Given the description of an element on the screen output the (x, y) to click on. 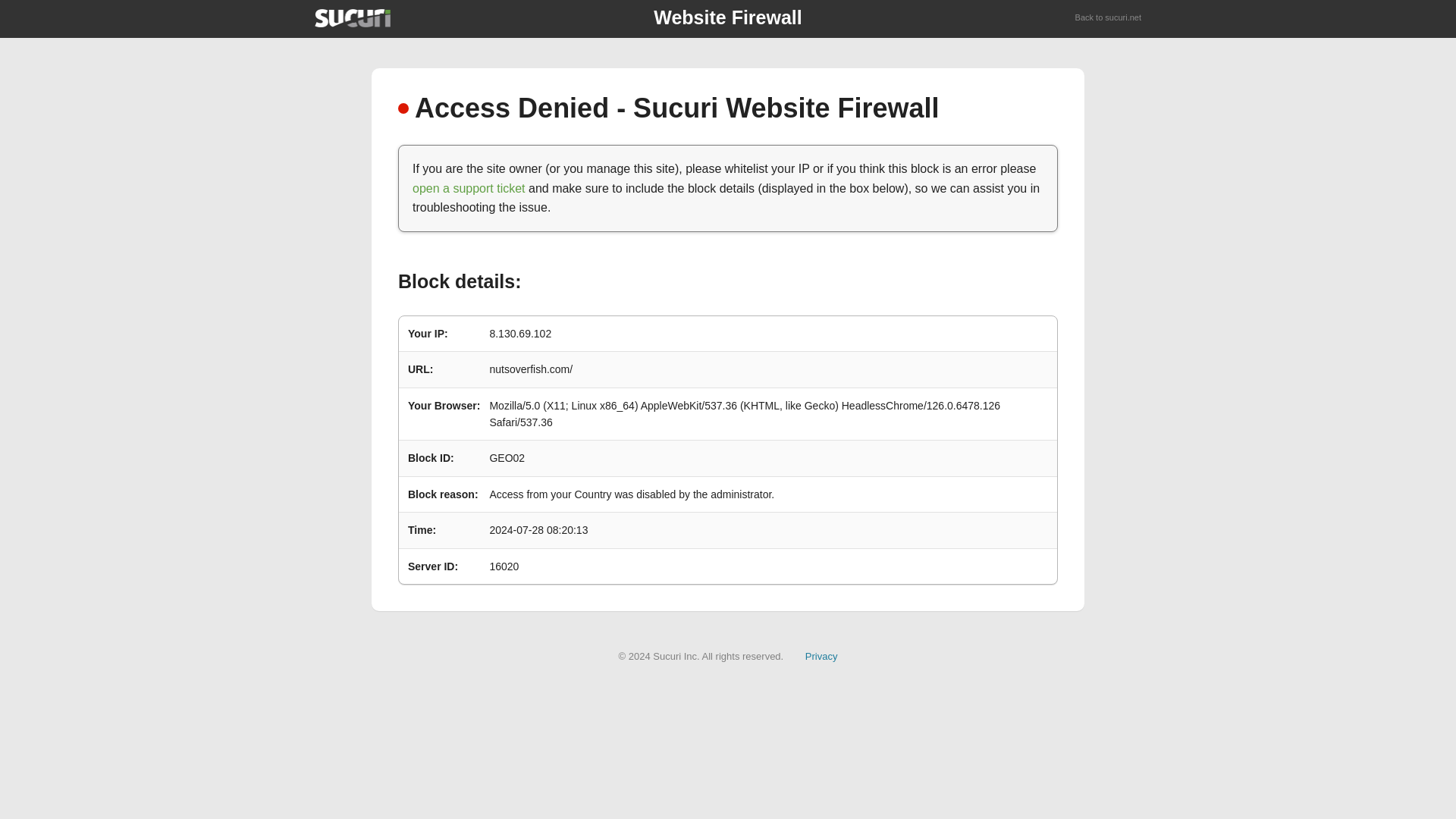
Back to sucuri.net (1108, 18)
Privacy (821, 655)
open a support ticket (468, 187)
